Given the description of an element on the screen output the (x, y) to click on. 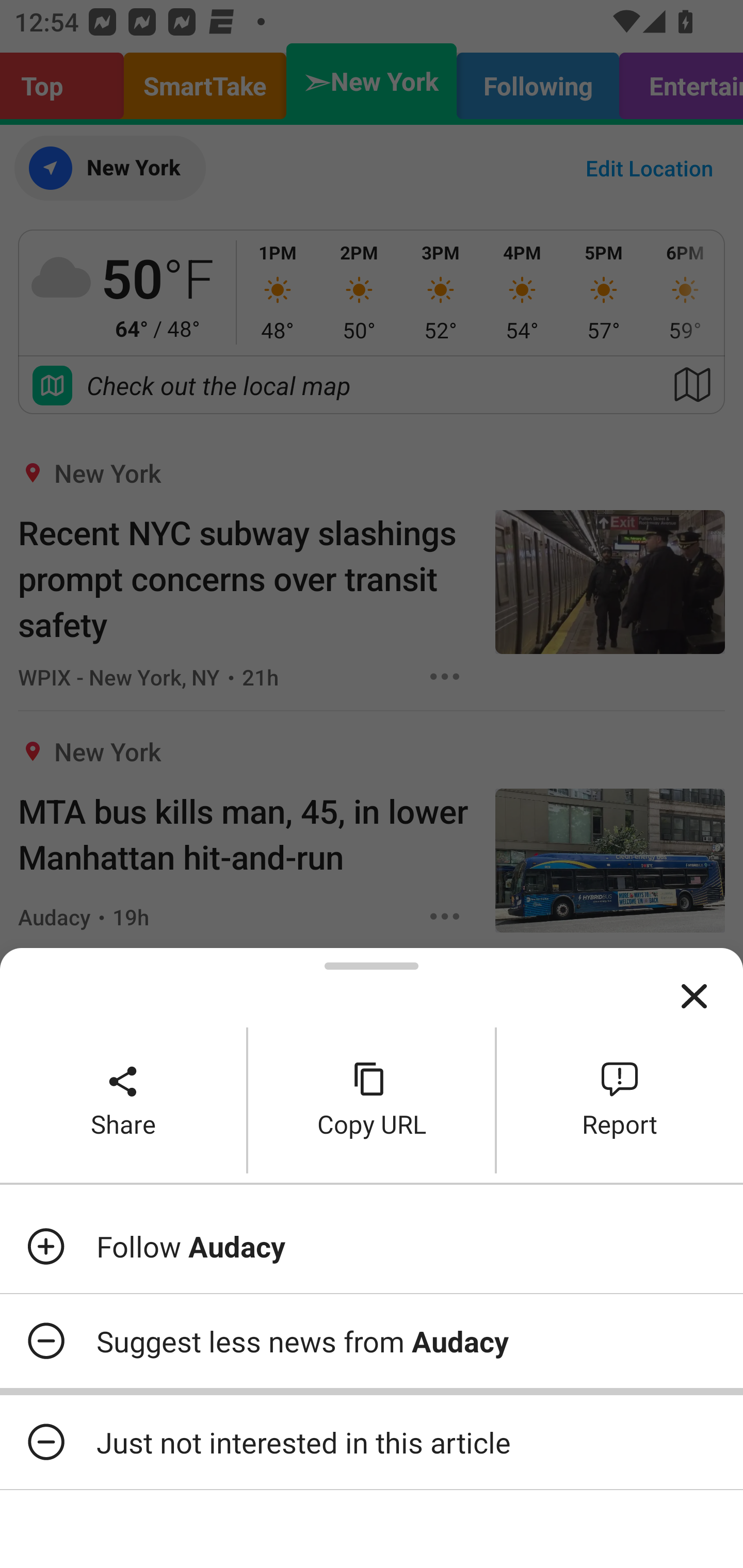
Close (694, 996)
Share (122, 1099)
Copy URL (371, 1099)
Report (620, 1099)
Follow Audacy (371, 1246)
Suggest less news from Audacy (371, 1340)
Just not interested in this article (371, 1442)
